Given the description of an element on the screen output the (x, y) to click on. 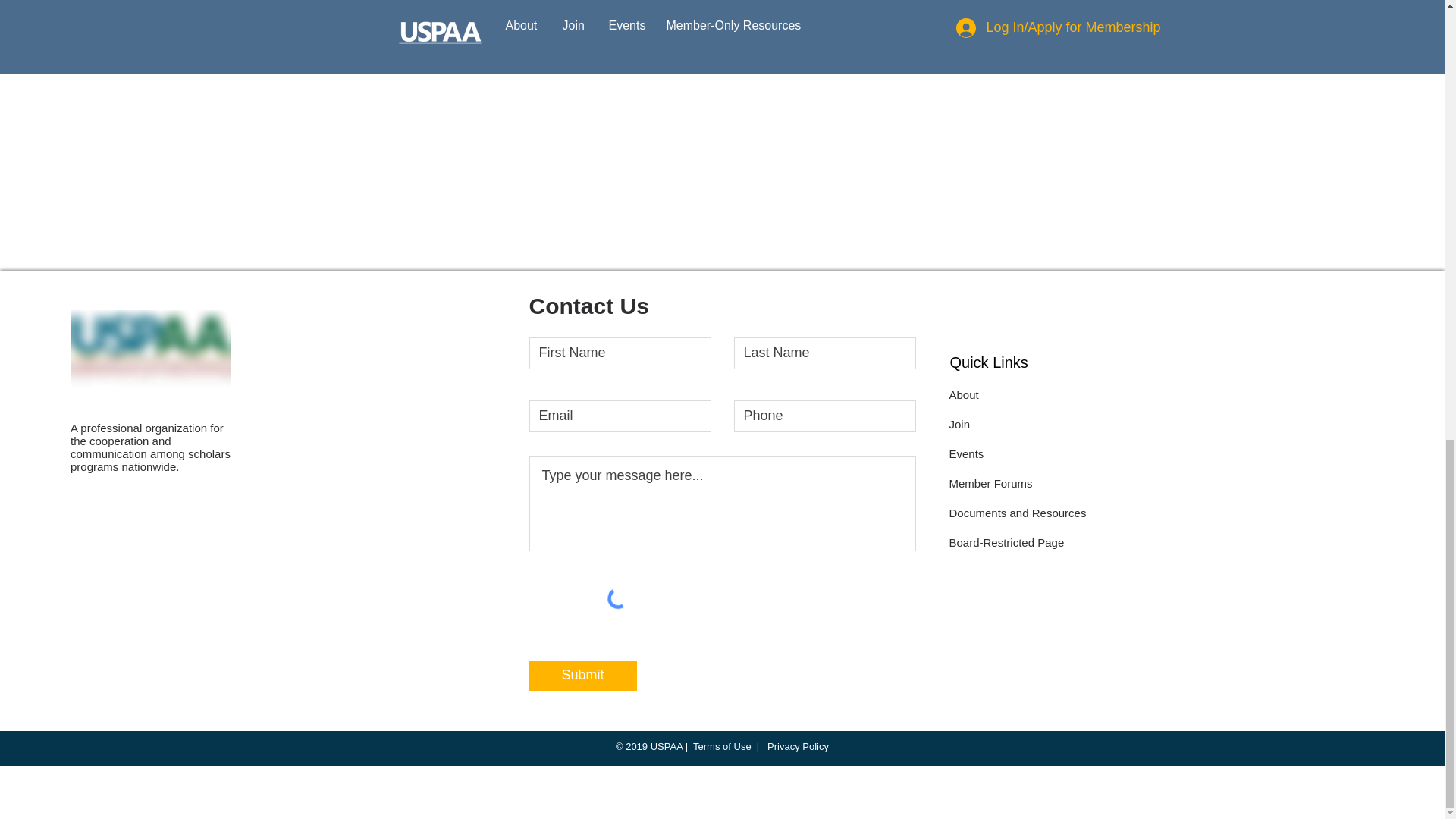
Member Forums (990, 482)
Board-Restricted Page (1006, 542)
 Privacy Policy (796, 746)
Join (960, 423)
Documents and Resources (1017, 512)
Submit (583, 675)
Terms of Use (722, 746)
Events (966, 453)
About (963, 394)
